Given the description of an element on the screen output the (x, y) to click on. 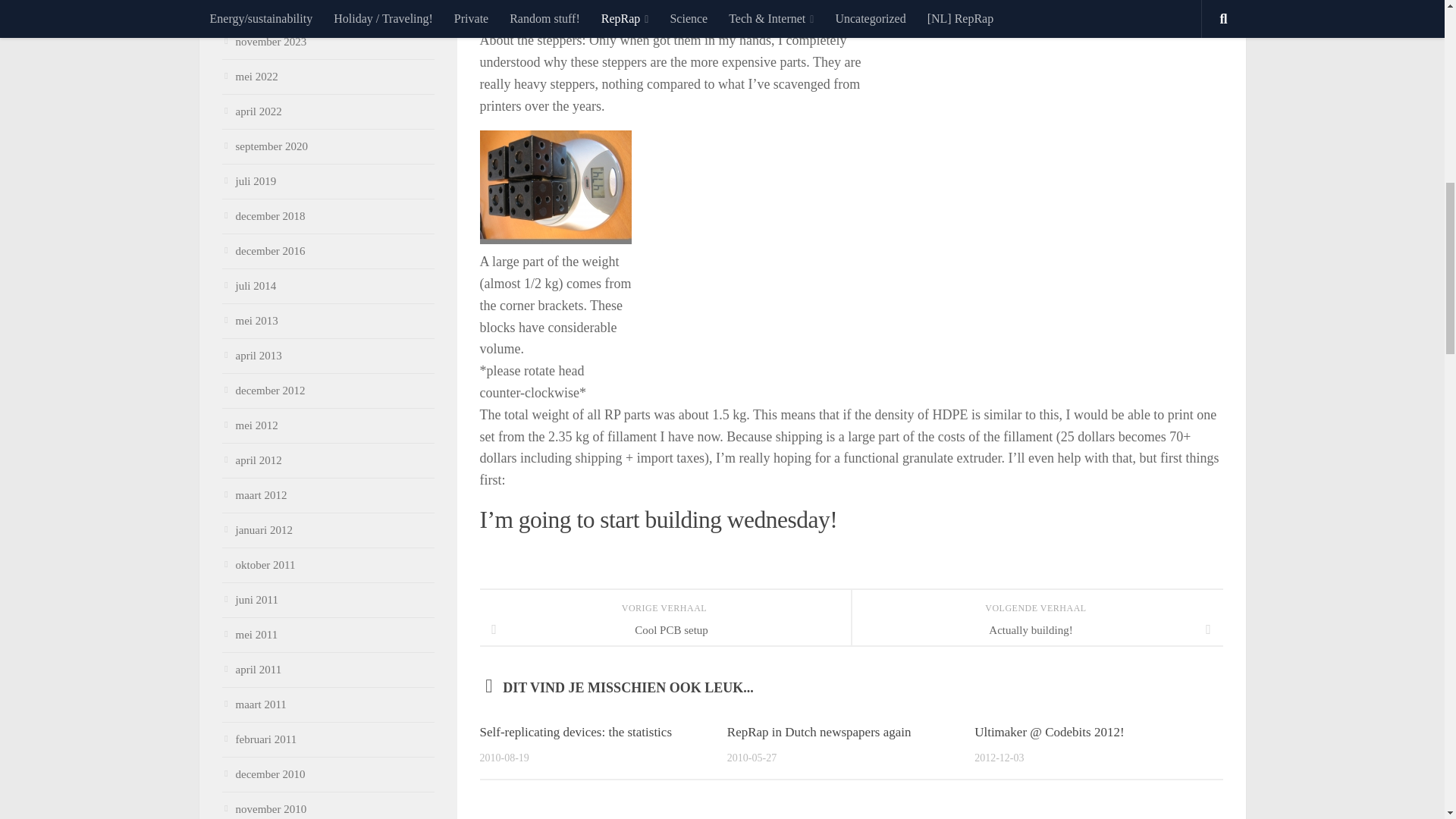
Self-replicating devices: the statistics (575, 731)
Actually building! (1036, 629)
Cool PCB setup (664, 629)
